Given the description of an element on the screen output the (x, y) to click on. 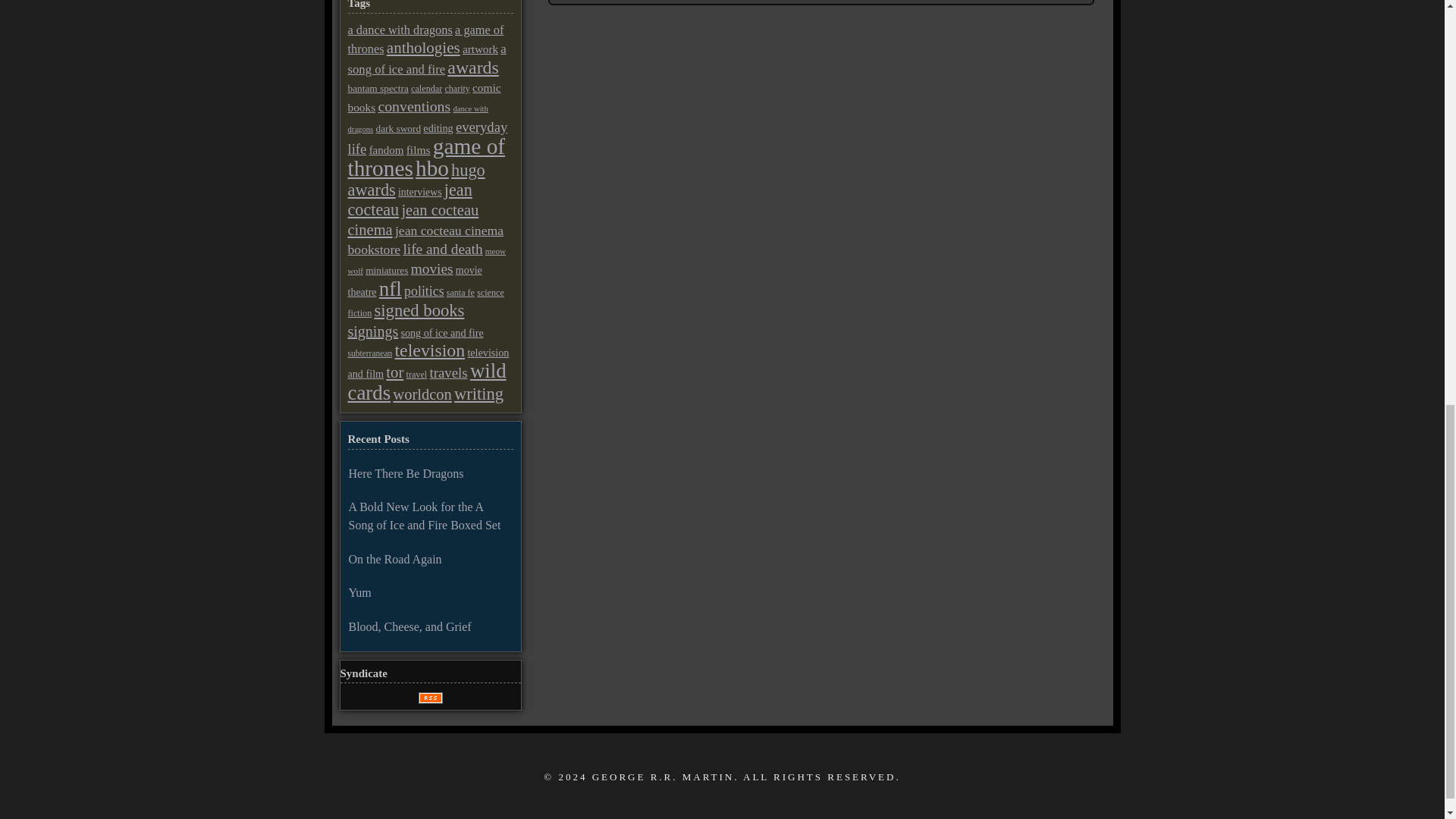
comic books (423, 97)
bantam spectra (377, 88)
anthologies (423, 47)
awards (471, 66)
a dance with dragons (399, 29)
artwork (480, 48)
calendar (426, 88)
charity (456, 88)
a game of thrones (425, 39)
a song of ice and fire (426, 58)
